Given the description of an element on the screen output the (x, y) to click on. 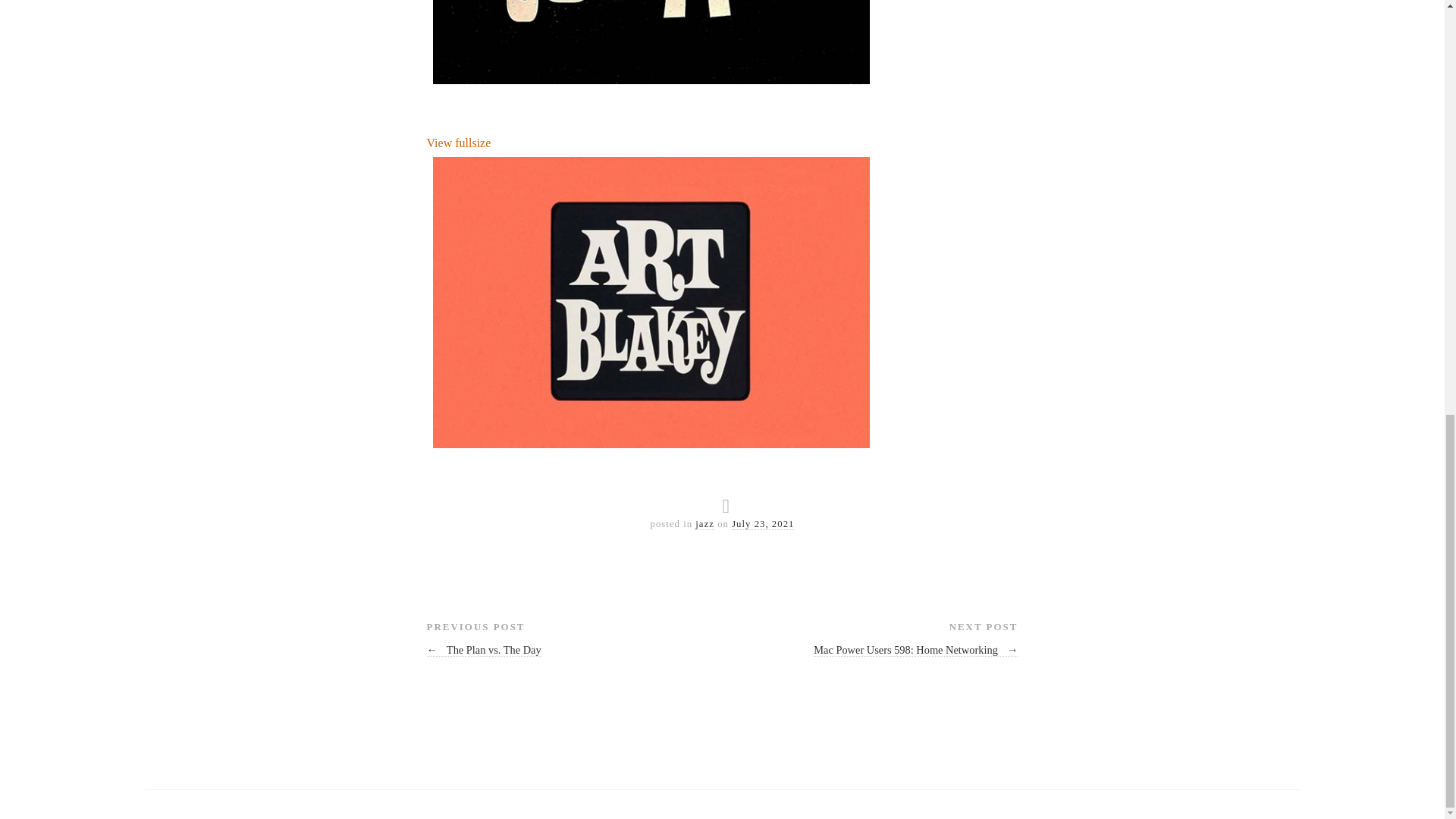
July 23, 2021 (762, 523)
View fullsize (650, 57)
jazz (704, 523)
15:00 (762, 523)
